Given the description of an element on the screen output the (x, y) to click on. 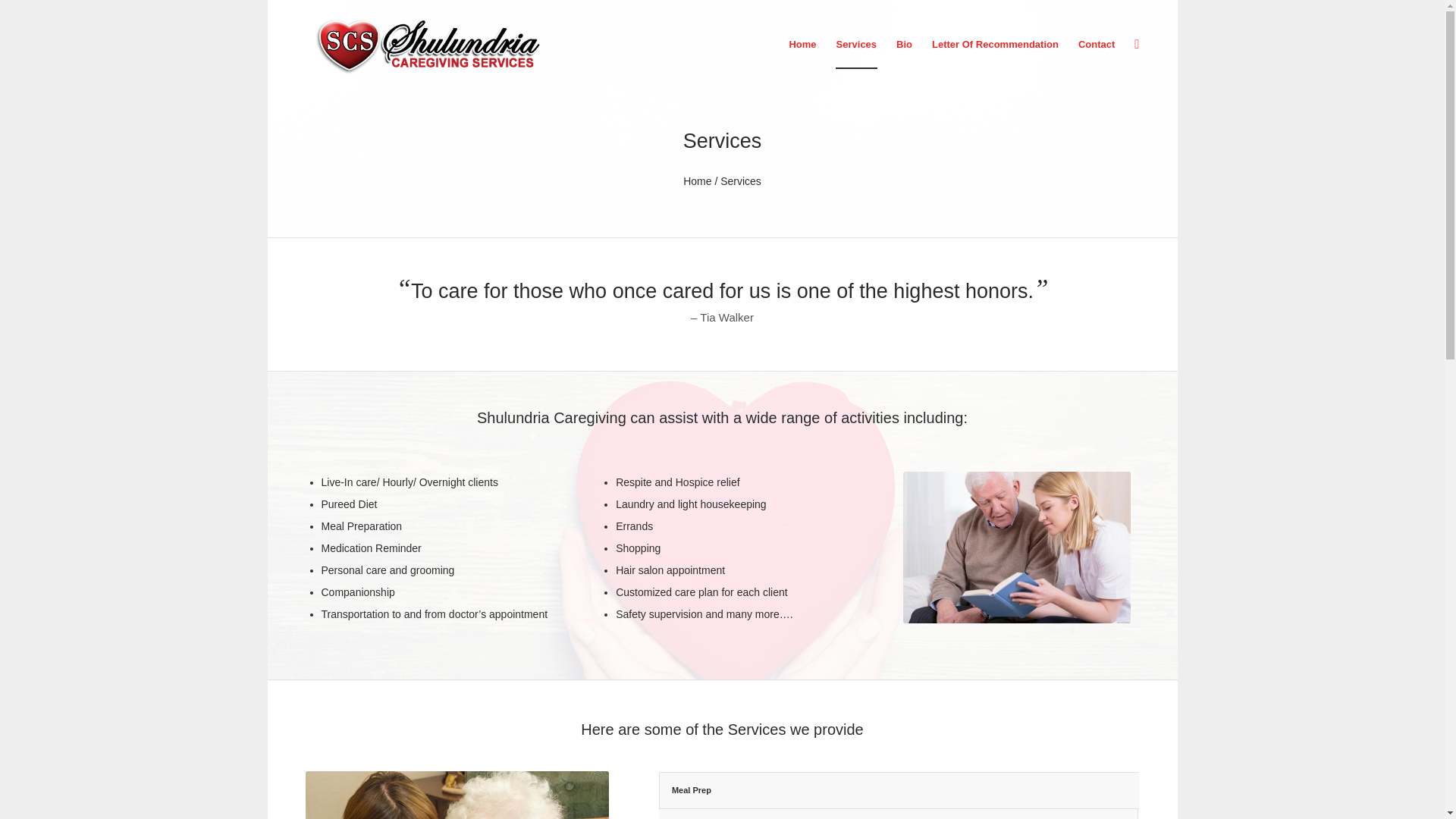
Home (801, 44)
Home (696, 181)
09 (456, 795)
Services (856, 44)
